Given the description of an element on the screen output the (x, y) to click on. 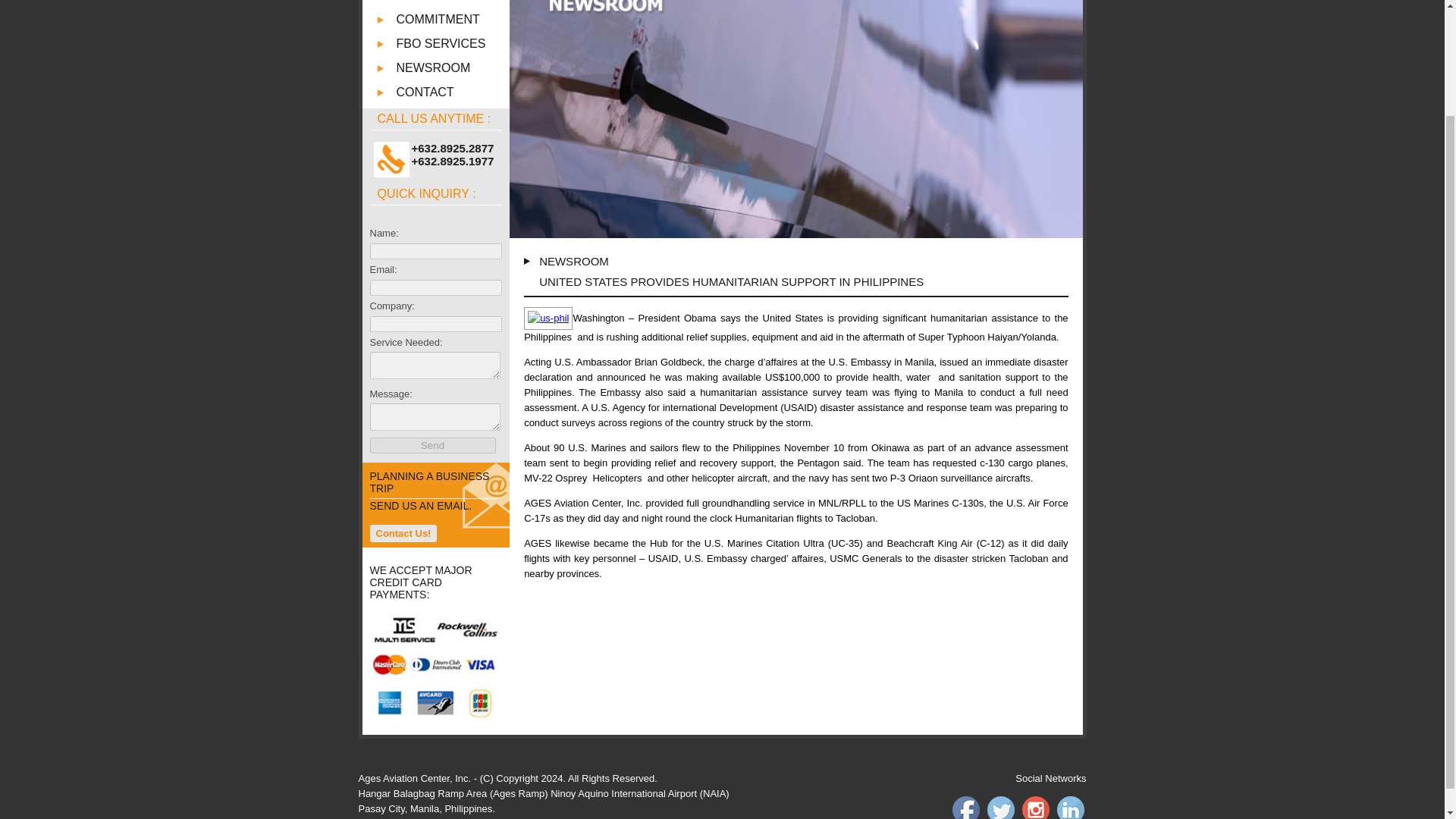
CONTACT (452, 92)
Send (432, 445)
NEWSROOM (452, 68)
COMPANY (452, 1)
Send (432, 445)
COMMITMENT (452, 19)
FBO SERVICES (452, 43)
Contact Us! (403, 533)
